Given the description of an element on the screen output the (x, y) to click on. 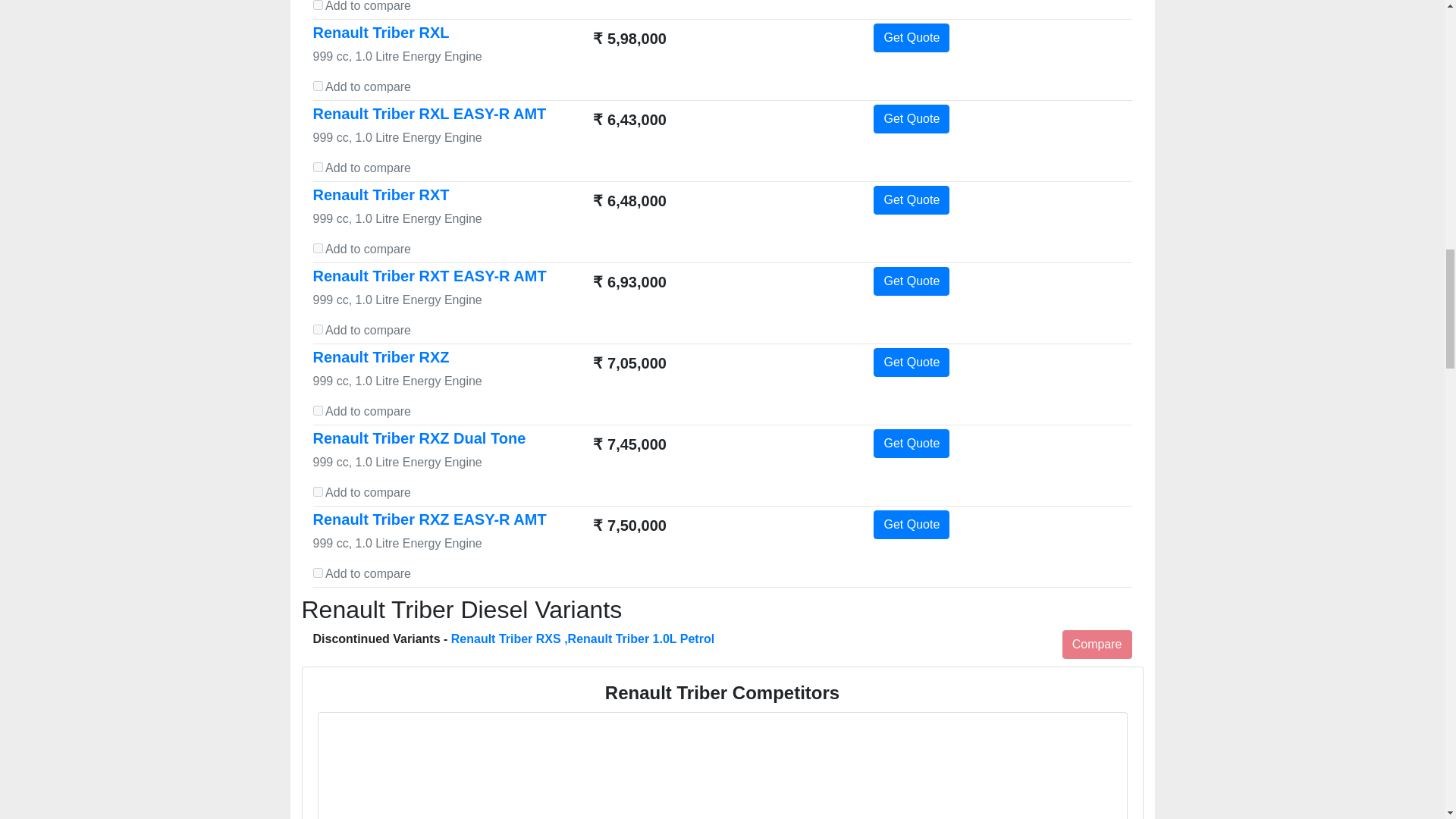
Renault Triber RXL EASY-R AMT (429, 113)
Renault Triber RXZ (380, 356)
Renault Triber RXL (380, 32)
Get Quote (911, 199)
Get Quote (911, 362)
Renault Triber RXZ Dual Tone (419, 437)
Maruti Ertiga (721, 768)
Get Quote (911, 118)
Renault Triber RXT EASY-R AMT (429, 275)
Get Quote (911, 443)
